Given the description of an element on the screen output the (x, y) to click on. 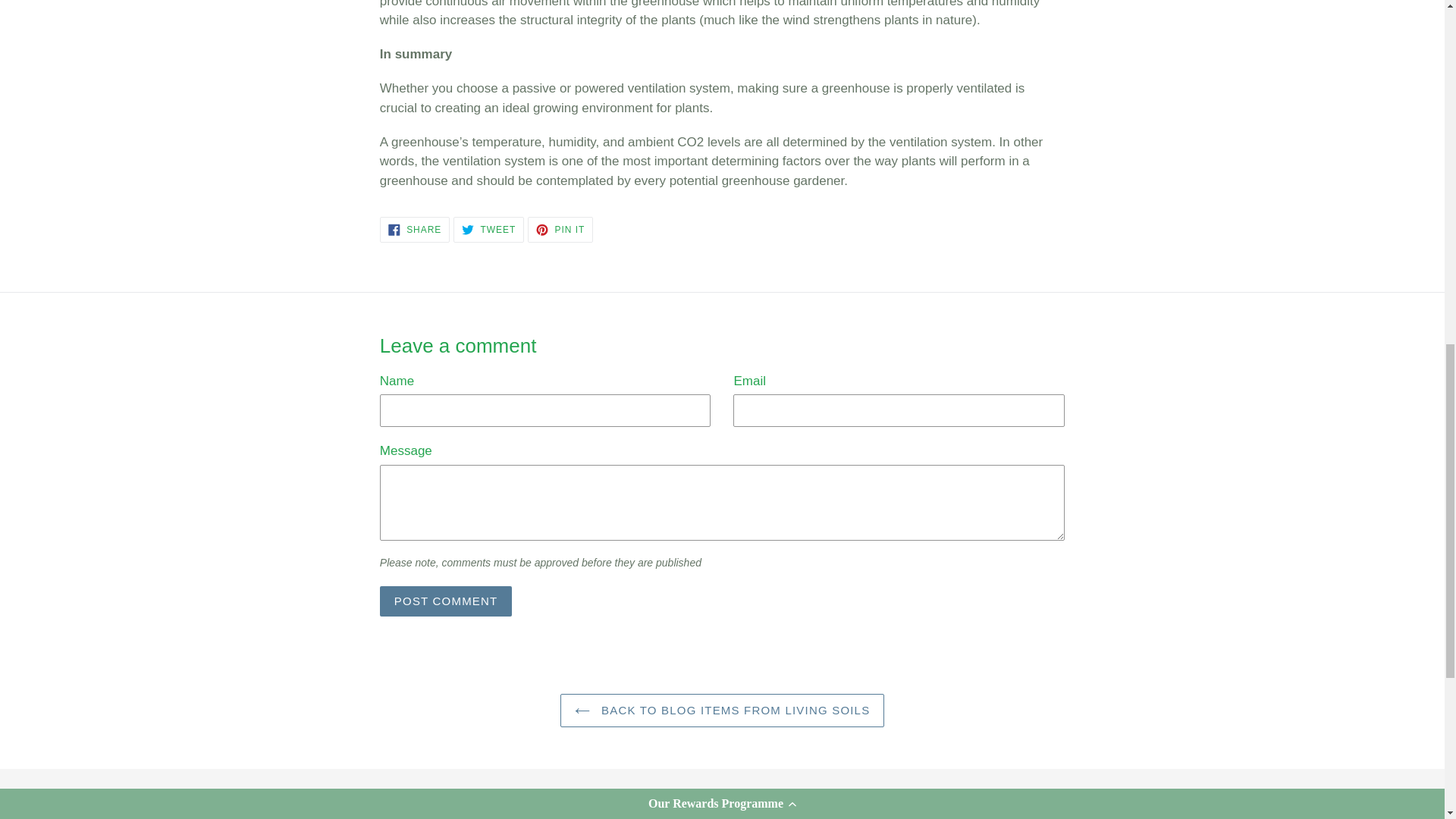
Post comment (446, 601)
